Given the description of an element on the screen output the (x, y) to click on. 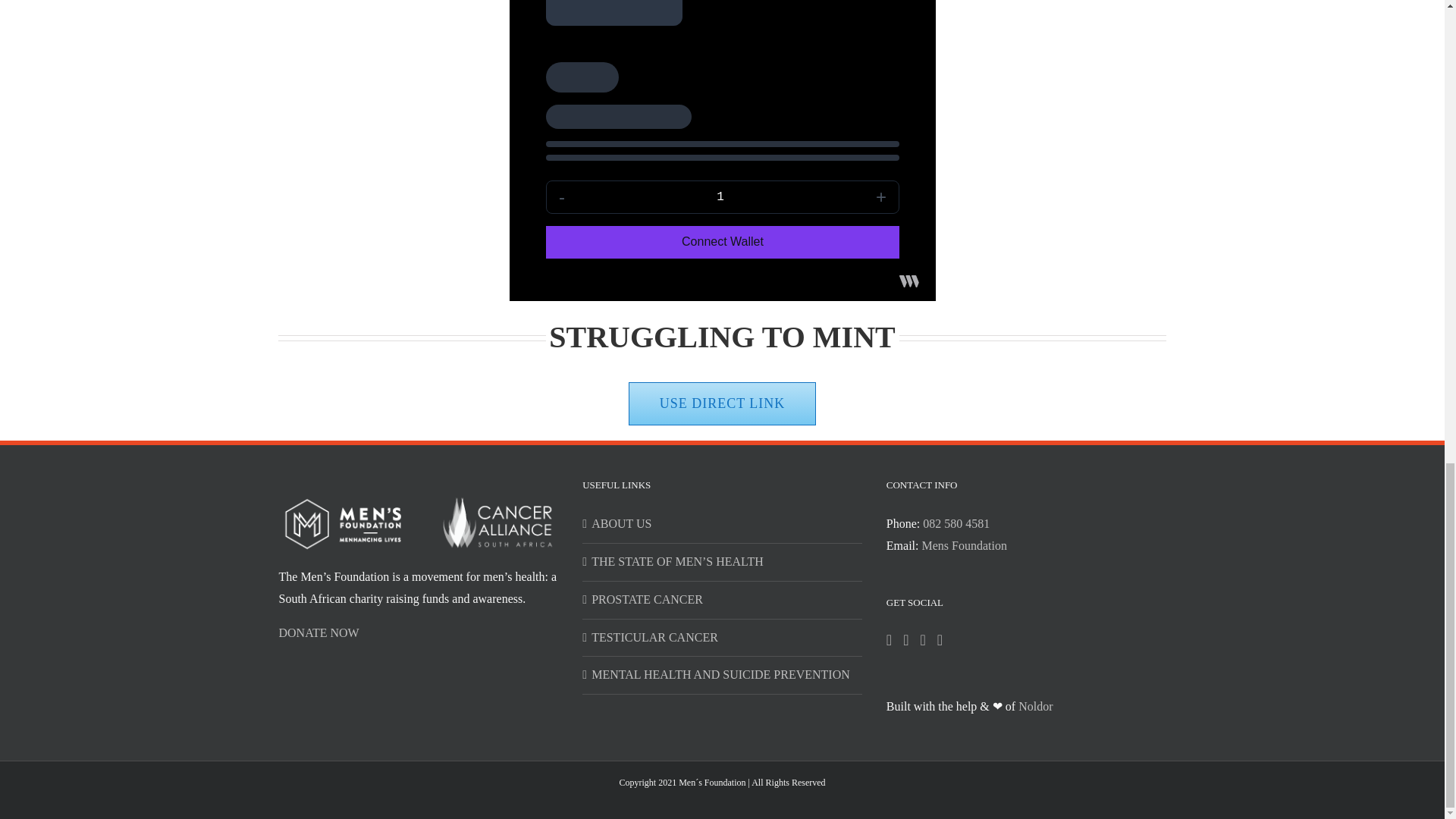
USE DIRECT LINK (722, 403)
MENTAL HEALTH AND SUICIDE PREVENTION (722, 675)
DONATE NOW (319, 632)
082 580 4581 (956, 522)
ABOUT US (722, 524)
Mens Foundation (963, 545)
PROSTATE CANCER (722, 599)
TESTICULAR CANCER (722, 638)
Noldor (1034, 706)
